Given the description of an element on the screen output the (x, y) to click on. 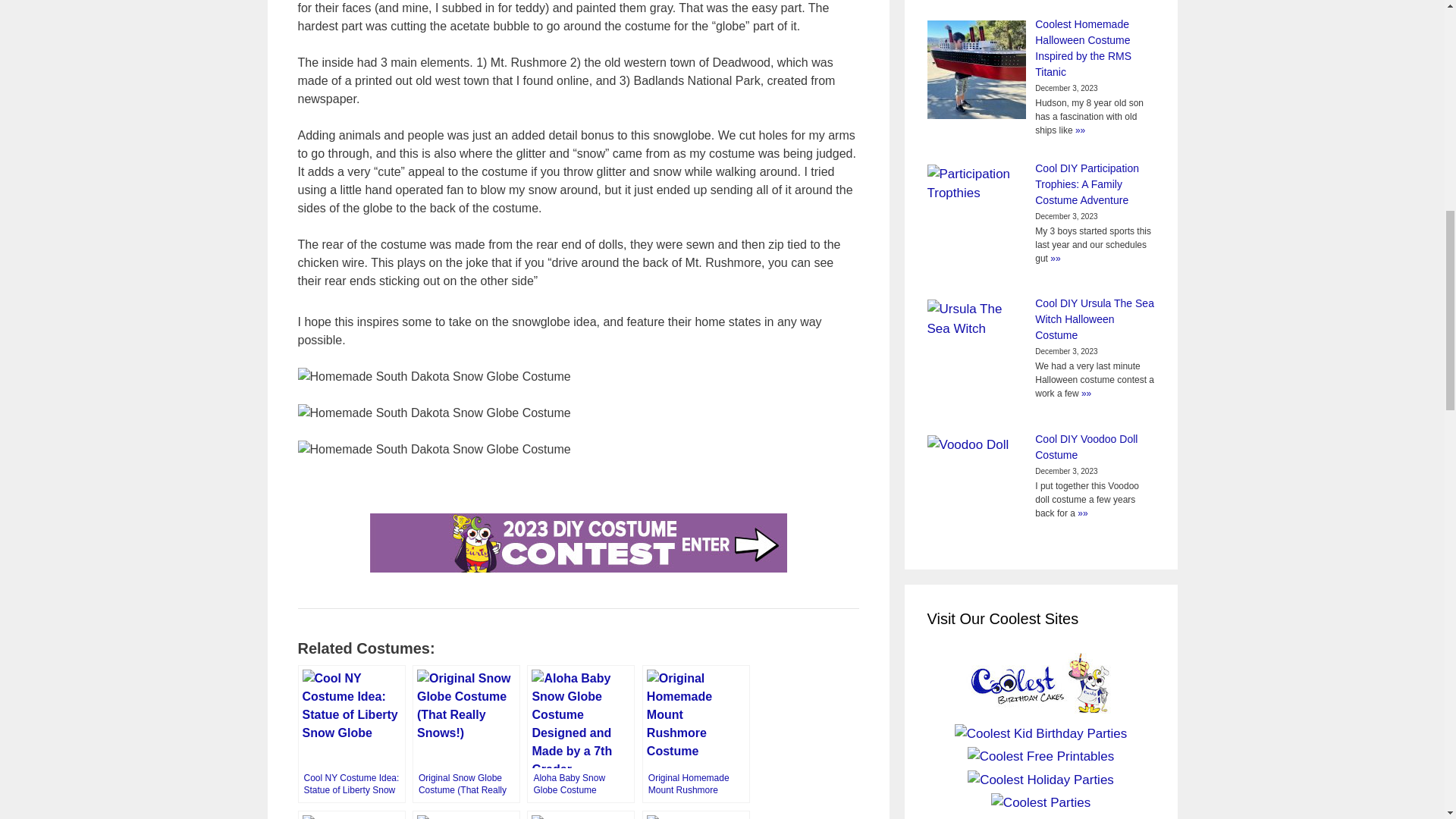
Cool Homemade Group Costume: South Pole Penguins (465, 814)
Cool Homemade Human Snowglobe Costume (695, 814)
